Given the description of an element on the screen output the (x, y) to click on. 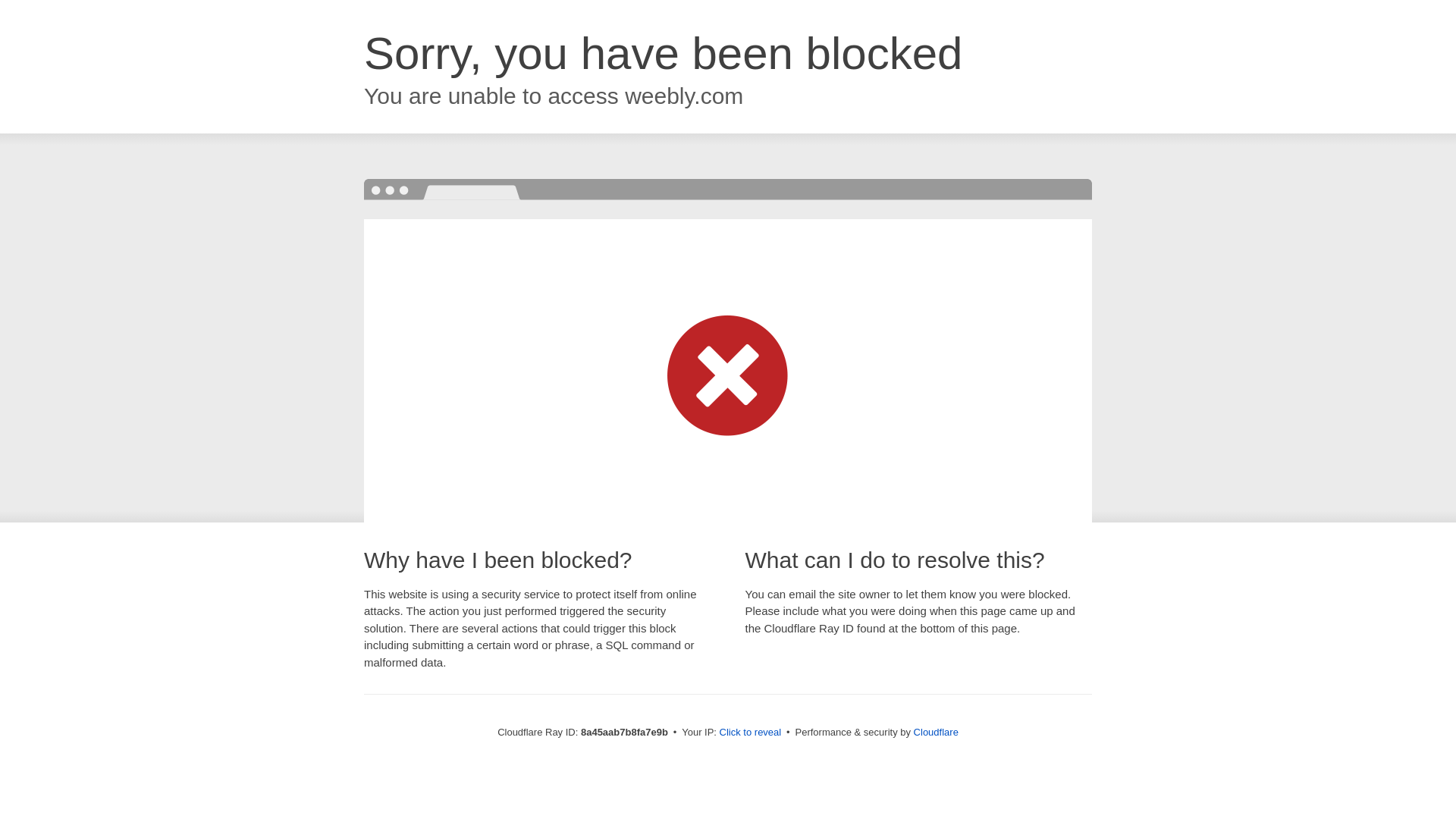
Cloudflare (936, 731)
Click to reveal (750, 732)
